Given the description of an element on the screen output the (x, y) to click on. 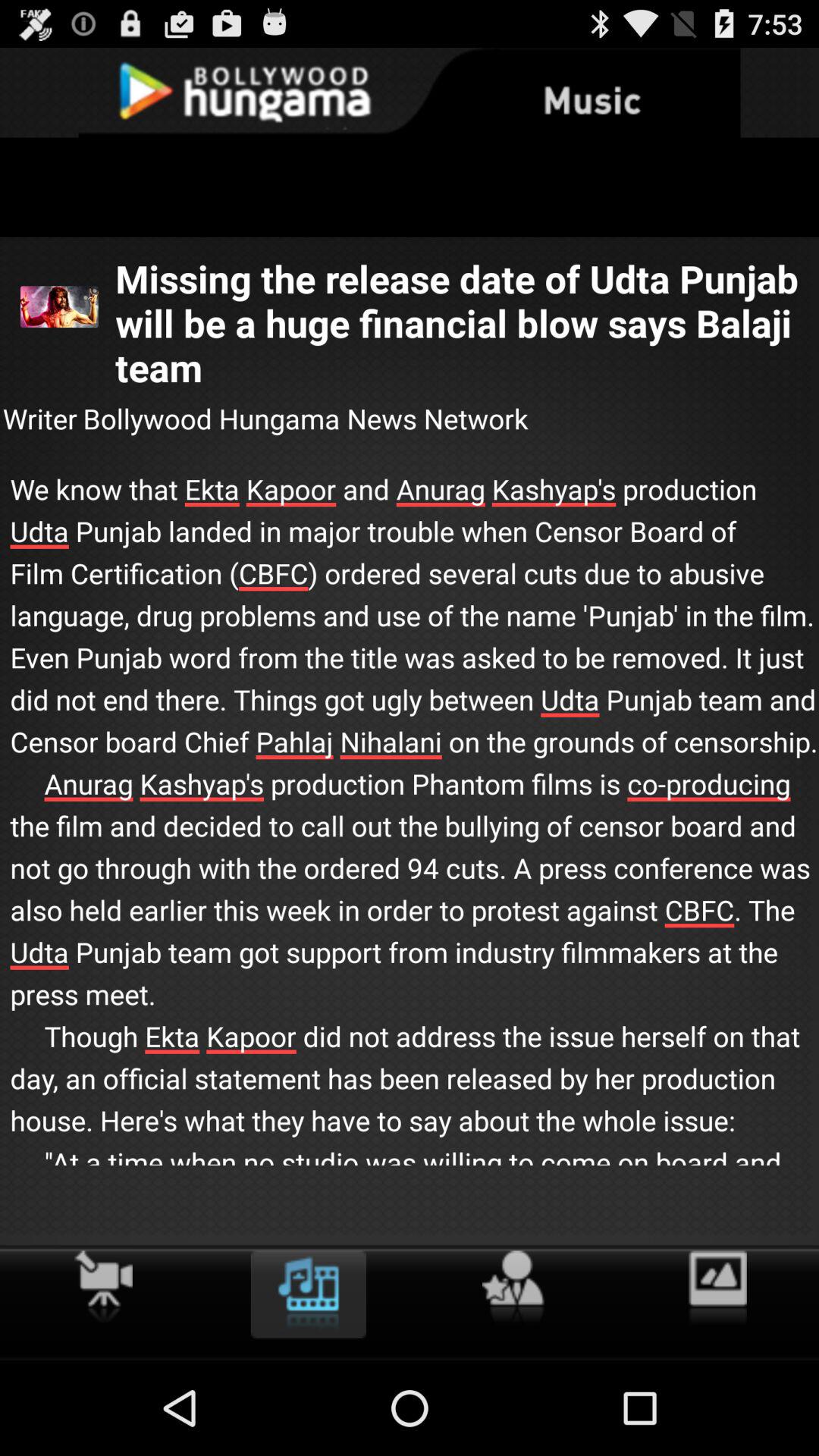
videos and songs by bollywood (307, 1294)
